Given the description of an element on the screen output the (x, y) to click on. 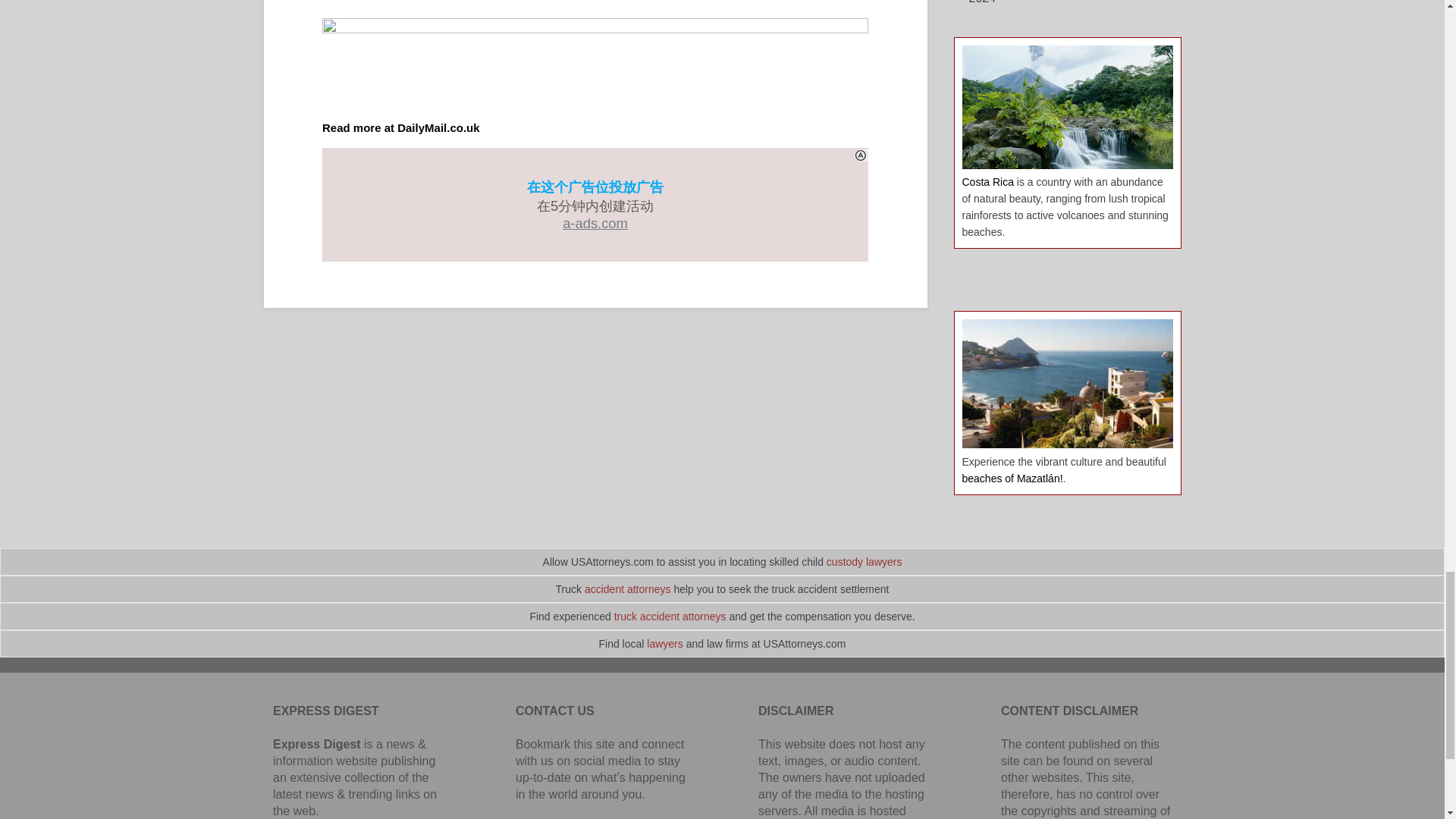
Costa Rica (986, 182)
Read more at DailyMail.co.uk (400, 127)
accident attorneys (628, 589)
lawyers (664, 644)
truck accident attorneys (670, 616)
custody lawyers (864, 562)
